Given the description of an element on the screen output the (x, y) to click on. 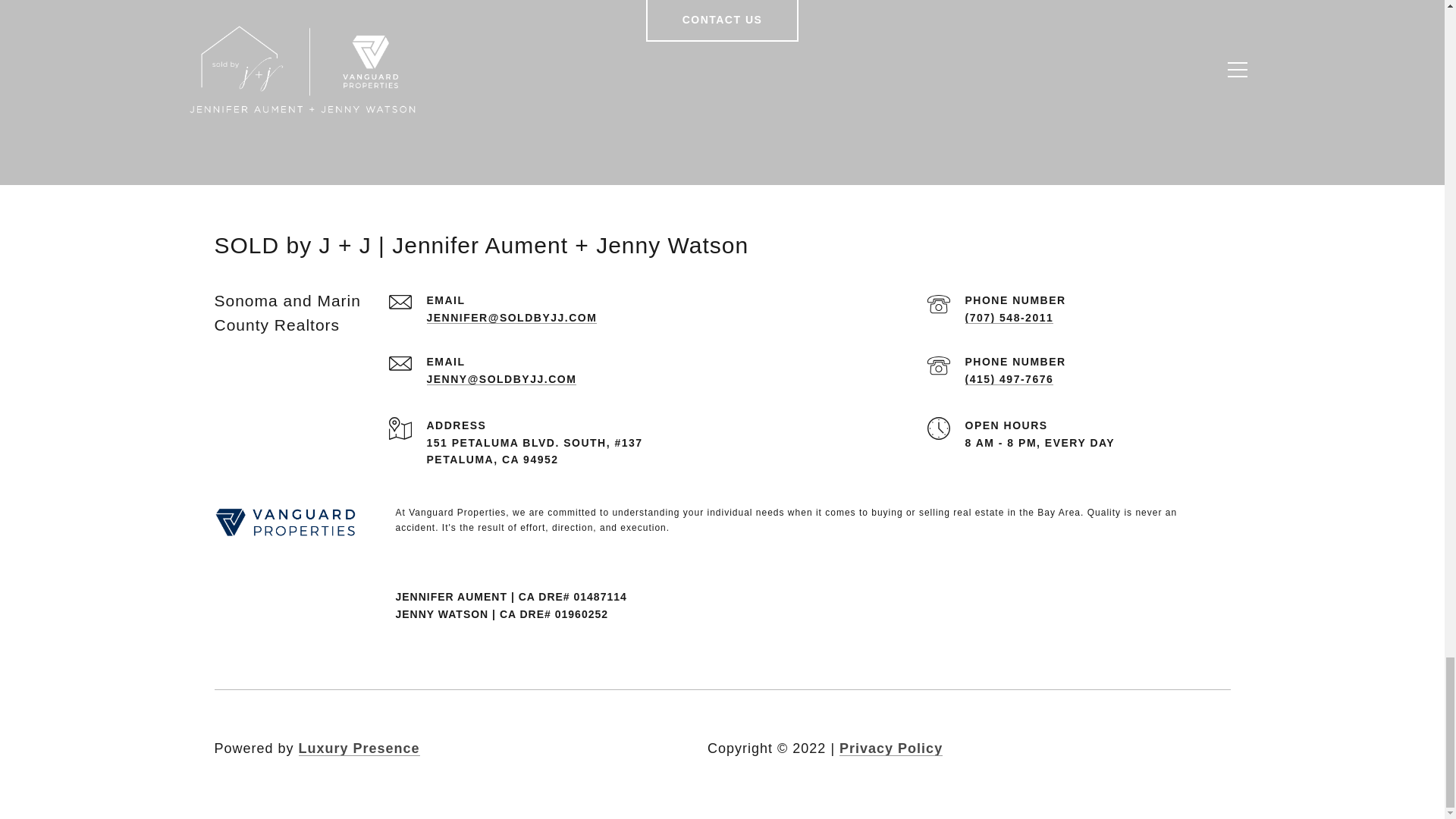
CONTACT US (722, 20)
